Given the description of an element on the screen output the (x, y) to click on. 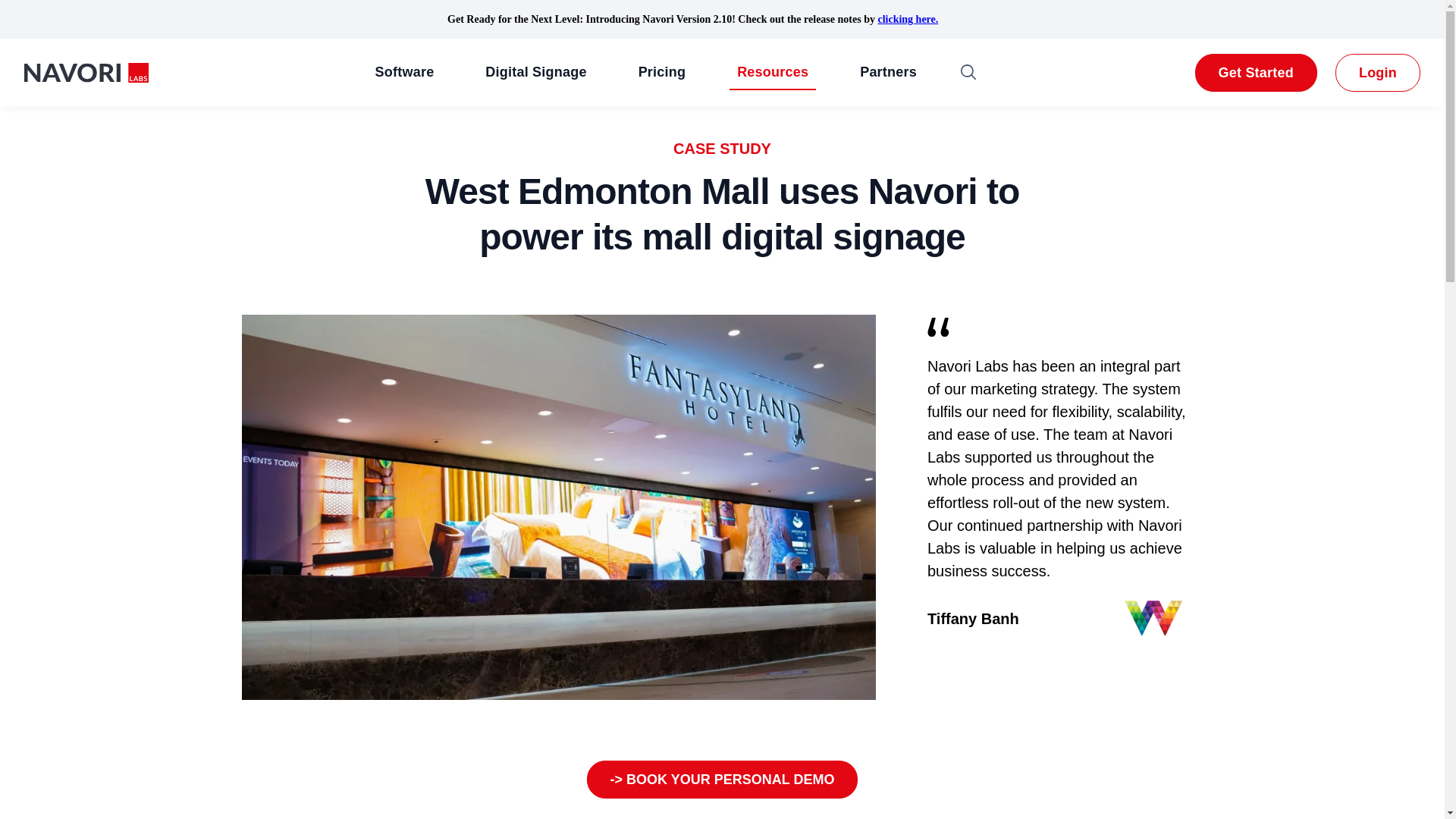
Pricing (662, 72)
Get Started (1255, 72)
clicking here. (907, 19)
Login In (1377, 72)
Software (405, 72)
Explore now (722, 779)
Digital Signage (535, 72)
Resources (772, 72)
